Given the description of an element on the screen output the (x, y) to click on. 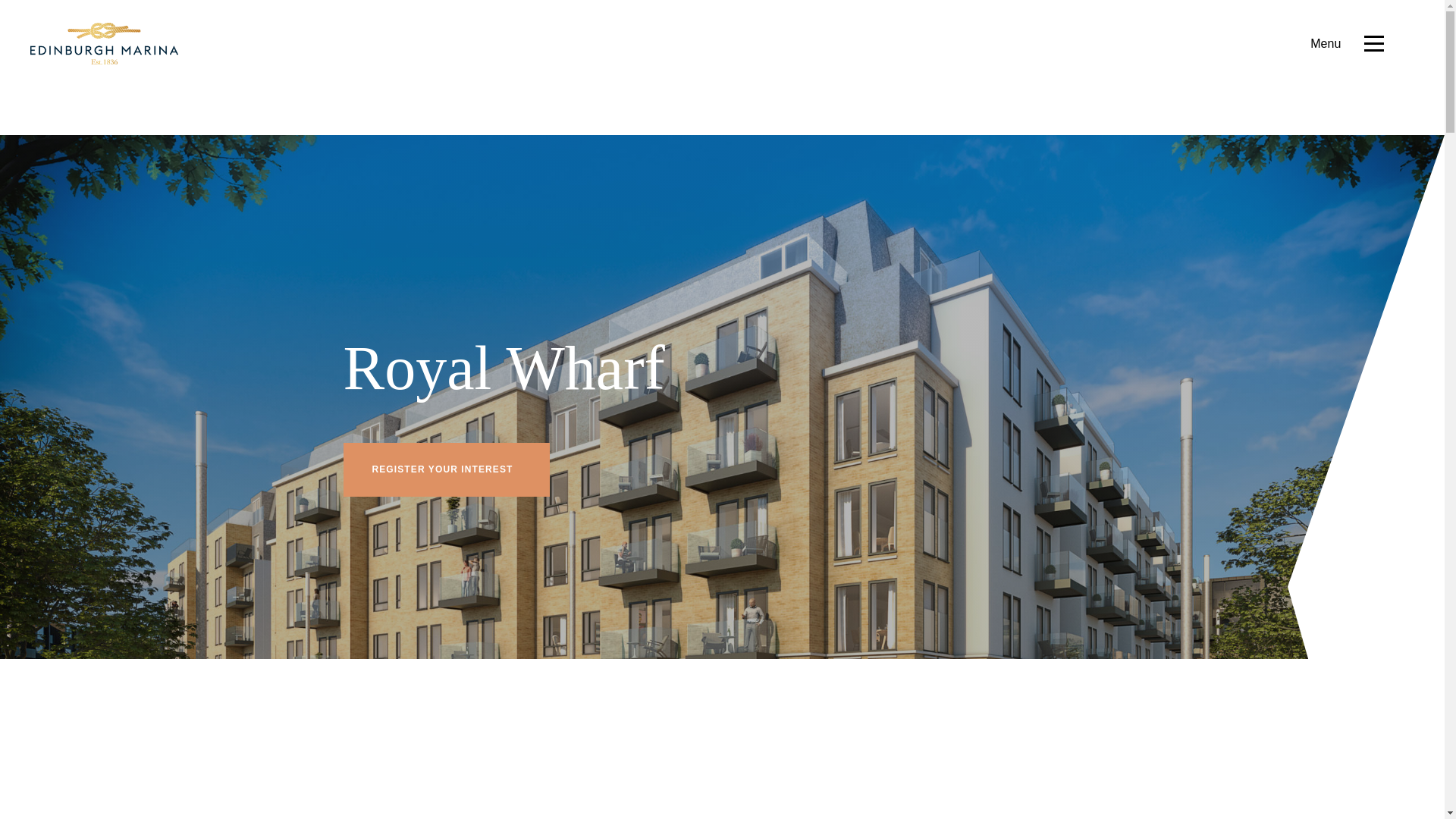
REGISTER YOUR INTEREST (445, 469)
Menu (1347, 43)
